Given the description of an element on the screen output the (x, y) to click on. 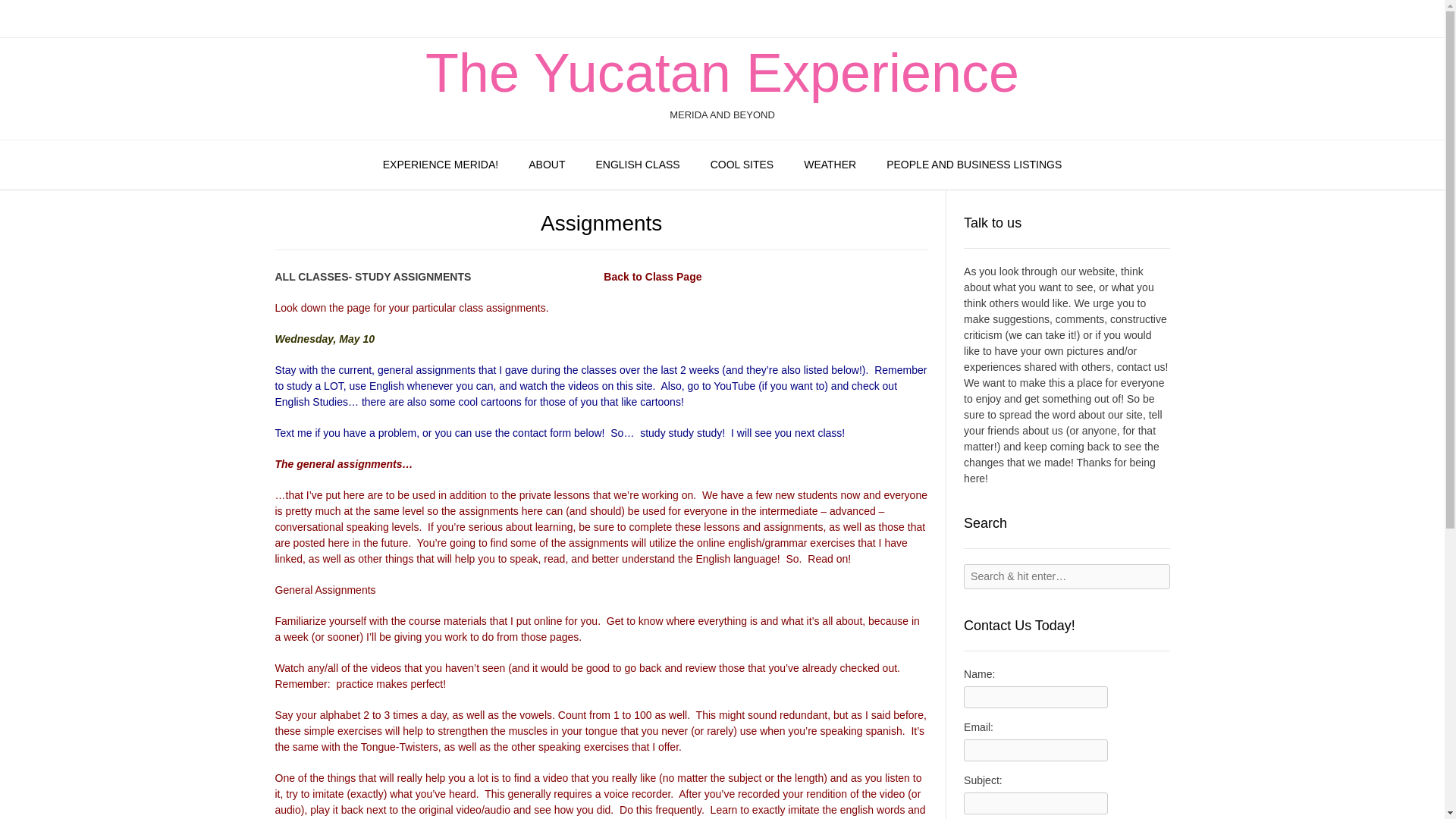
Back to Class Page (652, 276)
COOL SITES (742, 165)
PEOPLE AND BUSINESS LISTINGS (973, 165)
EXPERIENCE MERIDA! (440, 165)
WEATHER (829, 165)
ABOUT (546, 165)
The Yucatan Experience (722, 72)
The Yucatan Experience (722, 72)
